Given the description of an element on the screen output the (x, y) to click on. 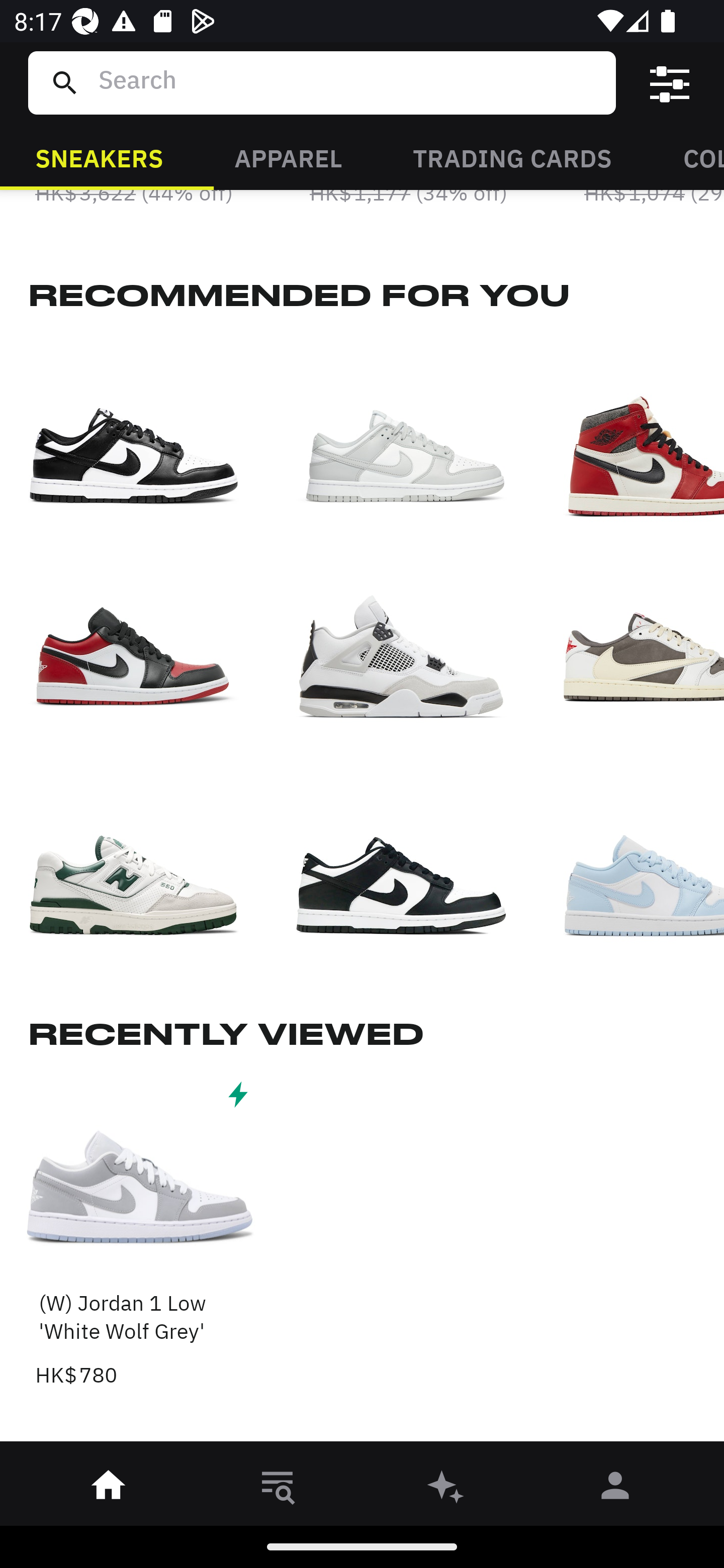
Search (349, 82)
 (669, 82)
SNEAKERS (99, 156)
APPAREL (287, 156)
TRADING CARDS (512, 156)
 (W) Jordan 1 Low 'White Wolf Grey' HK$ 780 (140, 1233)
󰋜 (108, 1488)
󱎸 (277, 1488)
󰫢 (446, 1488)
󰀄 (615, 1488)
